Given the description of an element on the screen output the (x, y) to click on. 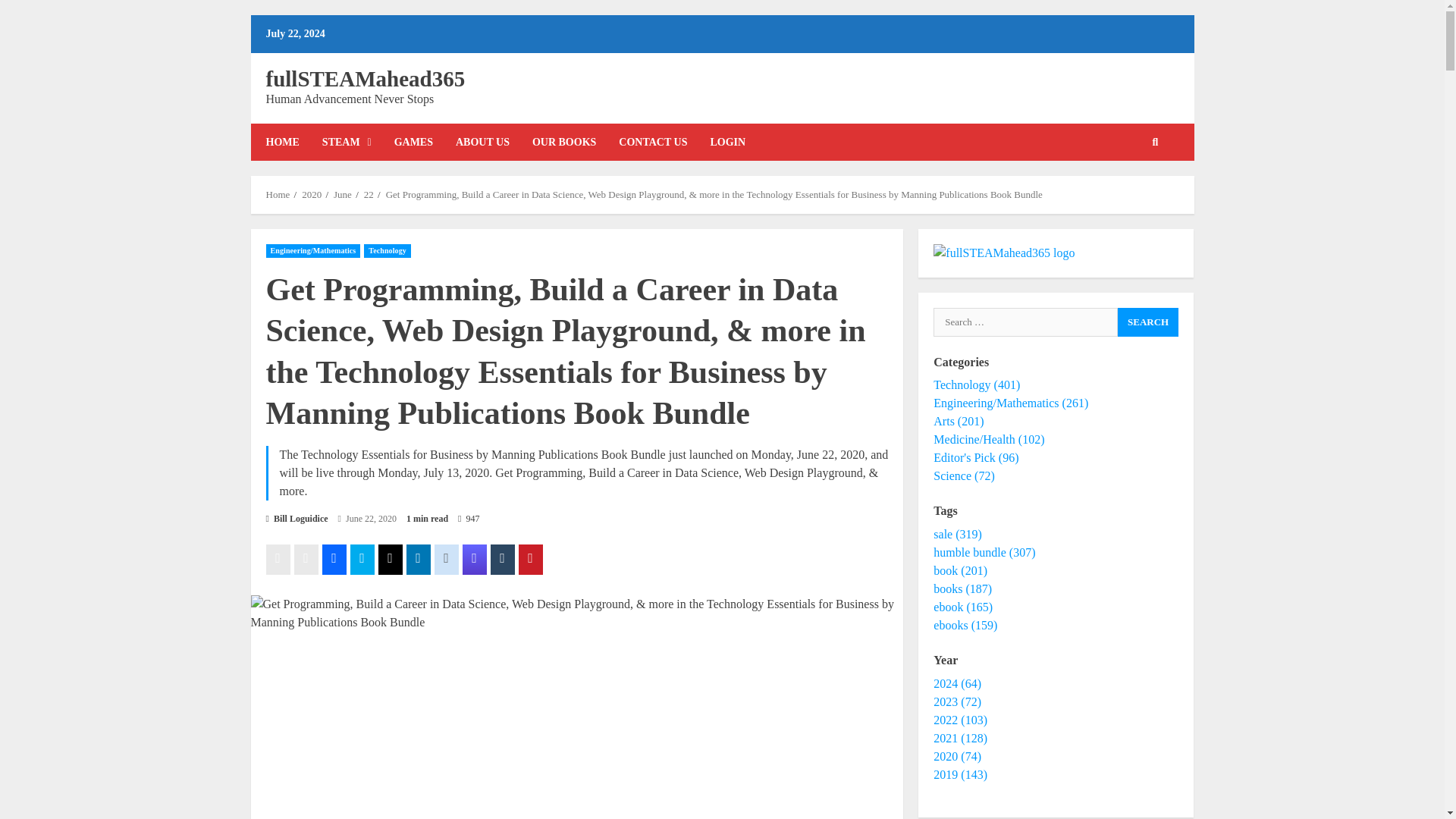
GAMES (413, 141)
2020 (311, 194)
Search (1131, 193)
Technology (387, 250)
Bill Loguidice (295, 518)
LOGIN (721, 141)
Home (276, 194)
fullSTEAMahead365 (364, 78)
June (342, 194)
947 (468, 518)
Search (1148, 321)
CONTACT US (652, 141)
OUR BOOKS (564, 141)
STEAM (346, 141)
